Given the description of an element on the screen output the (x, y) to click on. 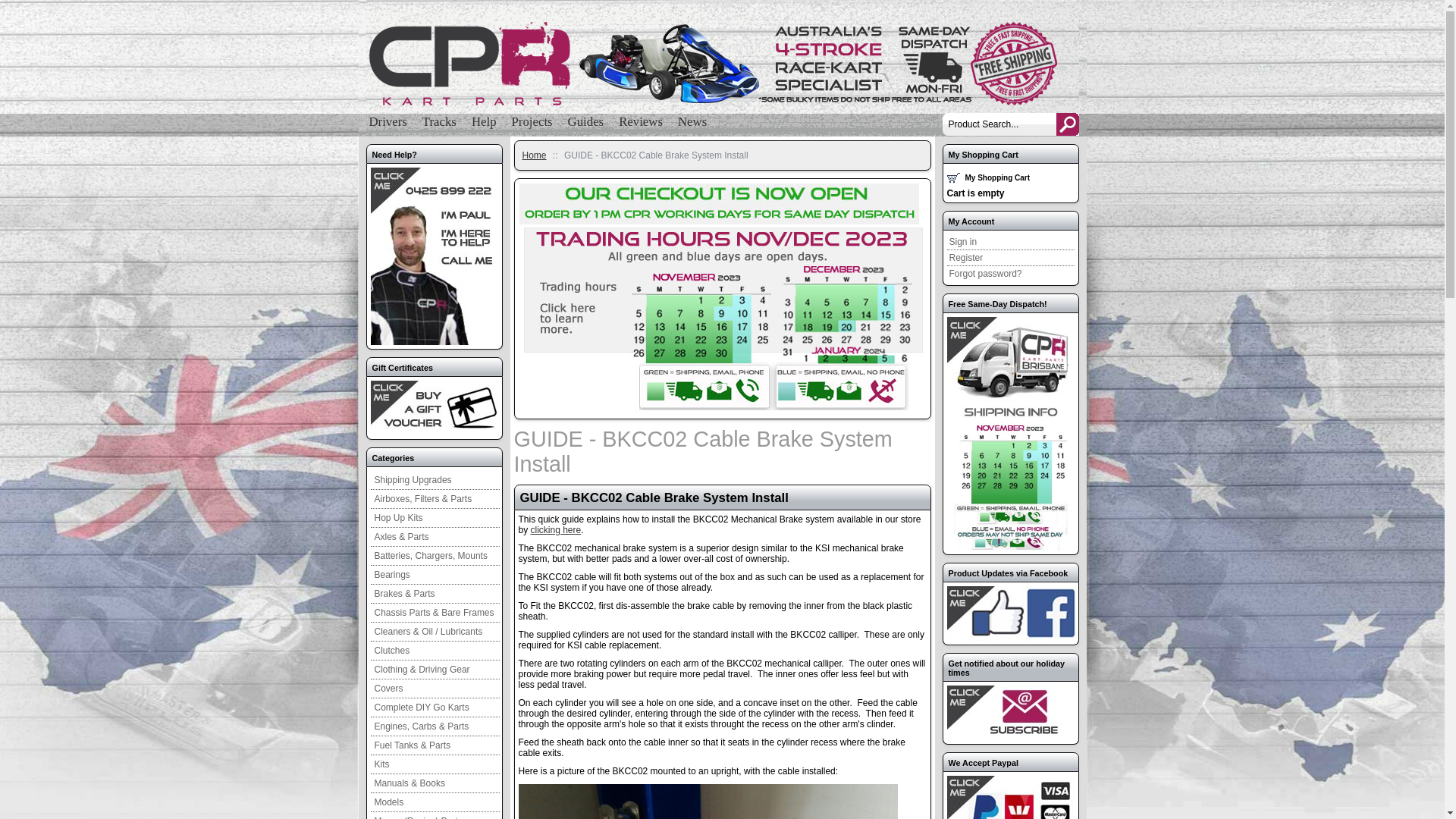
Cleaners & Oil / Lubricants Element type: text (434, 631)
Help Element type: text (484, 116)
Home Element type: text (533, 155)
Projects Element type: text (532, 116)
Covers Element type: text (434, 688)
GH - GUIDE CPR Element type: text (721, 63)
Airboxes, Filters & Parts Element type: text (434, 498)
clicking here Element type: text (555, 529)
Axles & Parts Element type: text (434, 536)
Clothing & Driving Gear Element type: text (434, 669)
Engines, Carbs & Parts Element type: text (434, 726)
Reviews Element type: text (640, 116)
Chassis Parts & Bare Frames Element type: text (434, 612)
Fuel Tanks & Parts Element type: text (434, 745)
Models Element type: text (434, 802)
Shipping Upgrades Element type: text (434, 479)
Sign in Element type: text (1009, 242)
Guides Element type: text (585, 116)
Drivers Element type: text (387, 116)
Hop Up Kits Element type: text (434, 517)
Forgot password? Element type: text (1009, 273)
Clutches Element type: text (434, 650)
Brakes & Parts Element type: text (434, 593)
Tracks Element type: text (439, 116)
Complete DIY Go Karts Element type: text (434, 707)
Batteries, Chargers, Mounts Element type: text (434, 555)
Manuals & Books Element type: text (434, 783)
Register Element type: text (1009, 258)
Kits Element type: text (434, 764)
News Element type: text (692, 116)
Bearings Element type: text (434, 574)
